Given the description of an element on the screen output the (x, y) to click on. 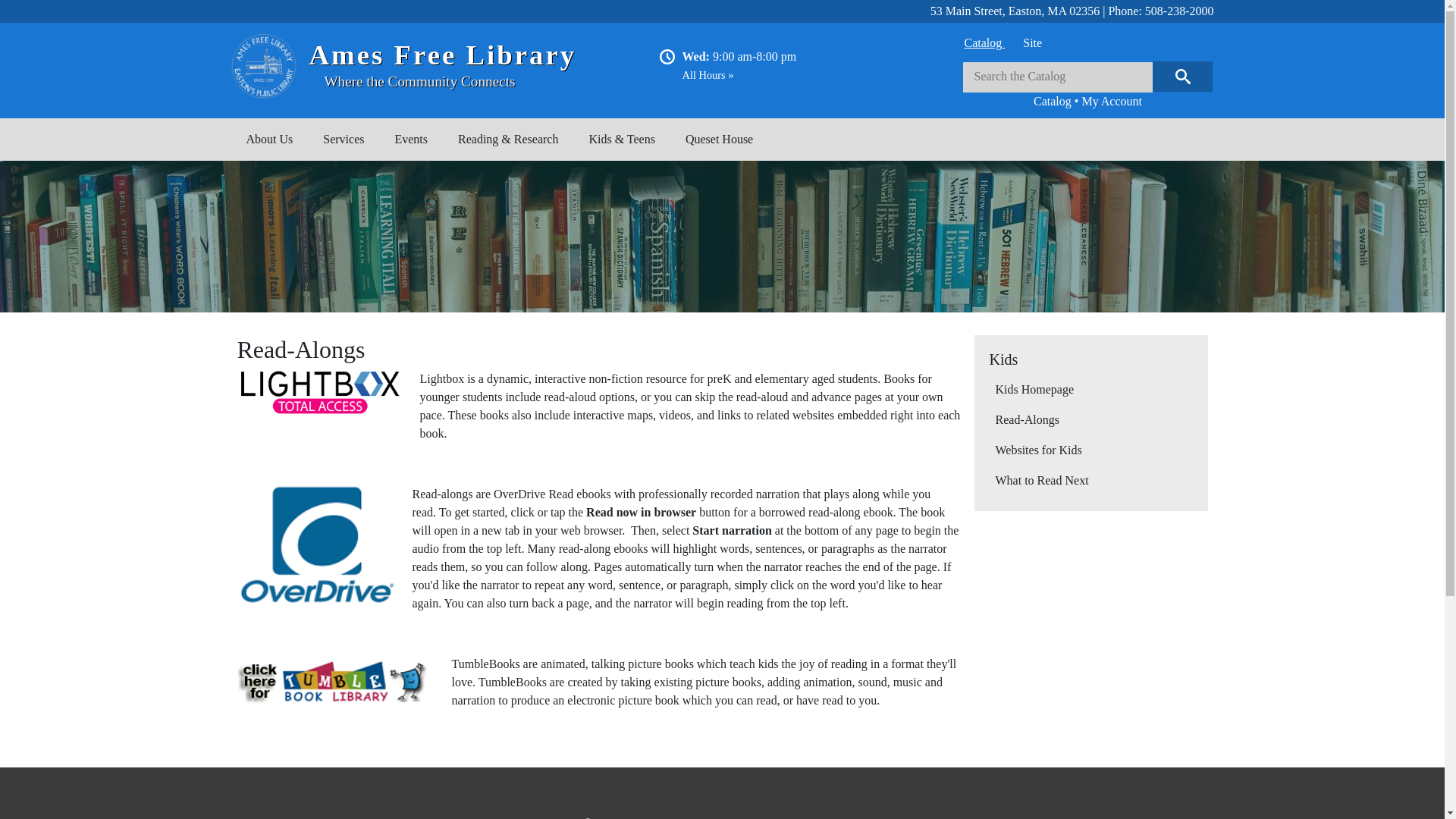
Search (1182, 76)
Search For: (1057, 77)
Search (1182, 76)
Home (269, 66)
Home (442, 54)
